Given the description of an element on the screen output the (x, y) to click on. 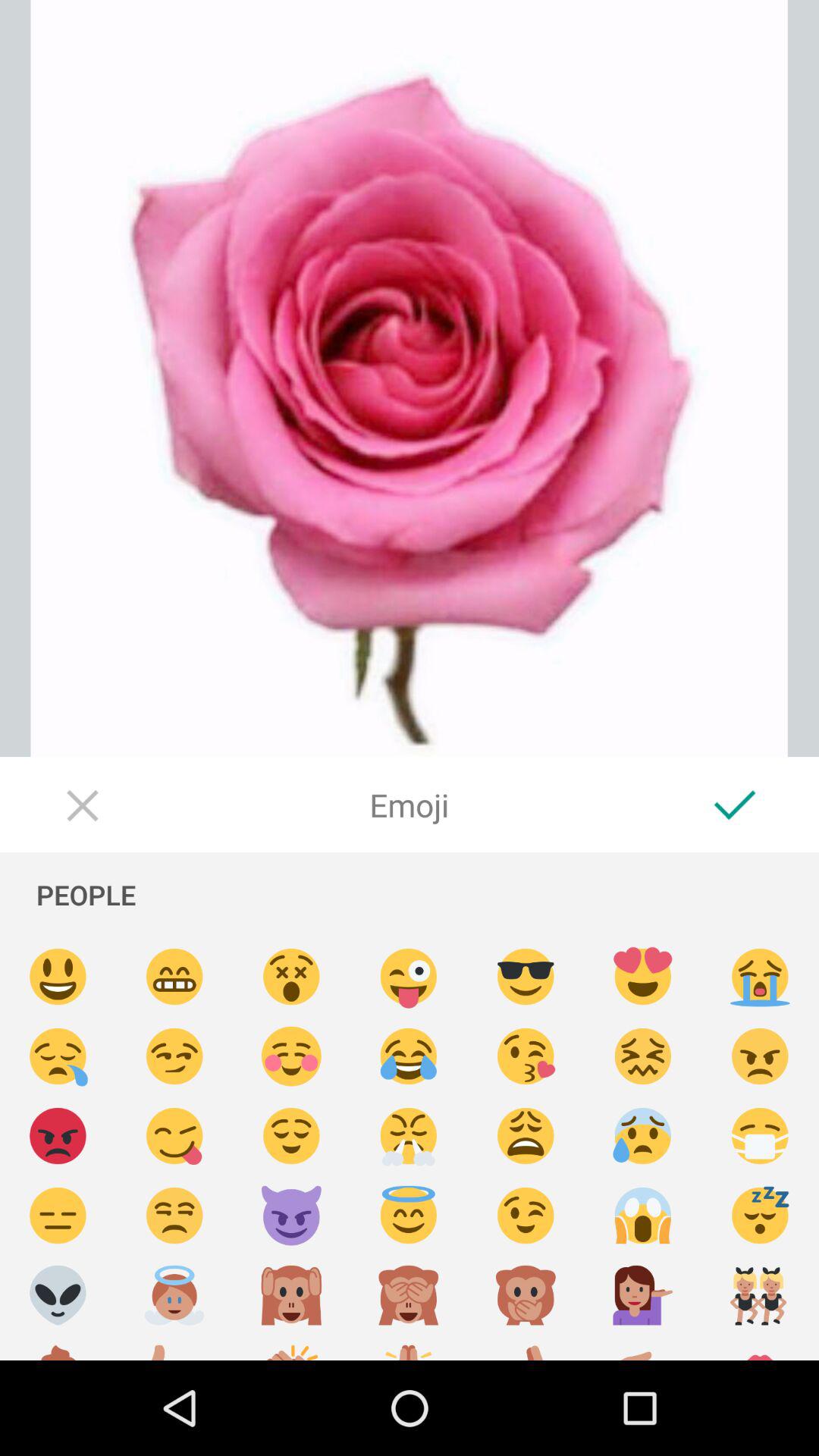
emoji (408, 1056)
